Given the description of an element on the screen output the (x, y) to click on. 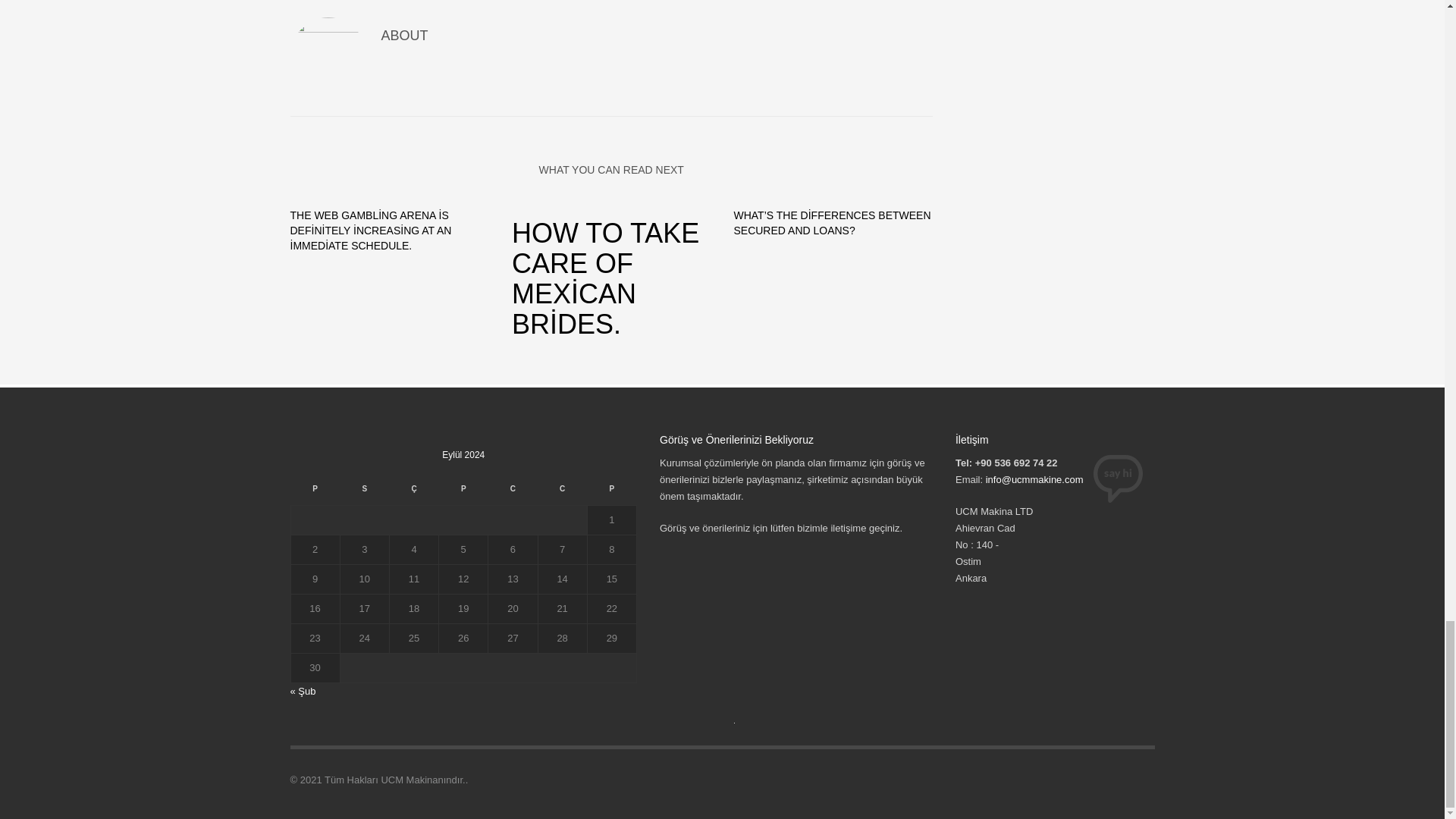
Cumartesi (561, 493)
Cuma (512, 493)
Pazartesi (314, 493)
Pazar (611, 493)
HOW TO TAKE CARE OF MEXICAN BRIDES. (611, 278)
